Given the description of an element on the screen output the (x, y) to click on. 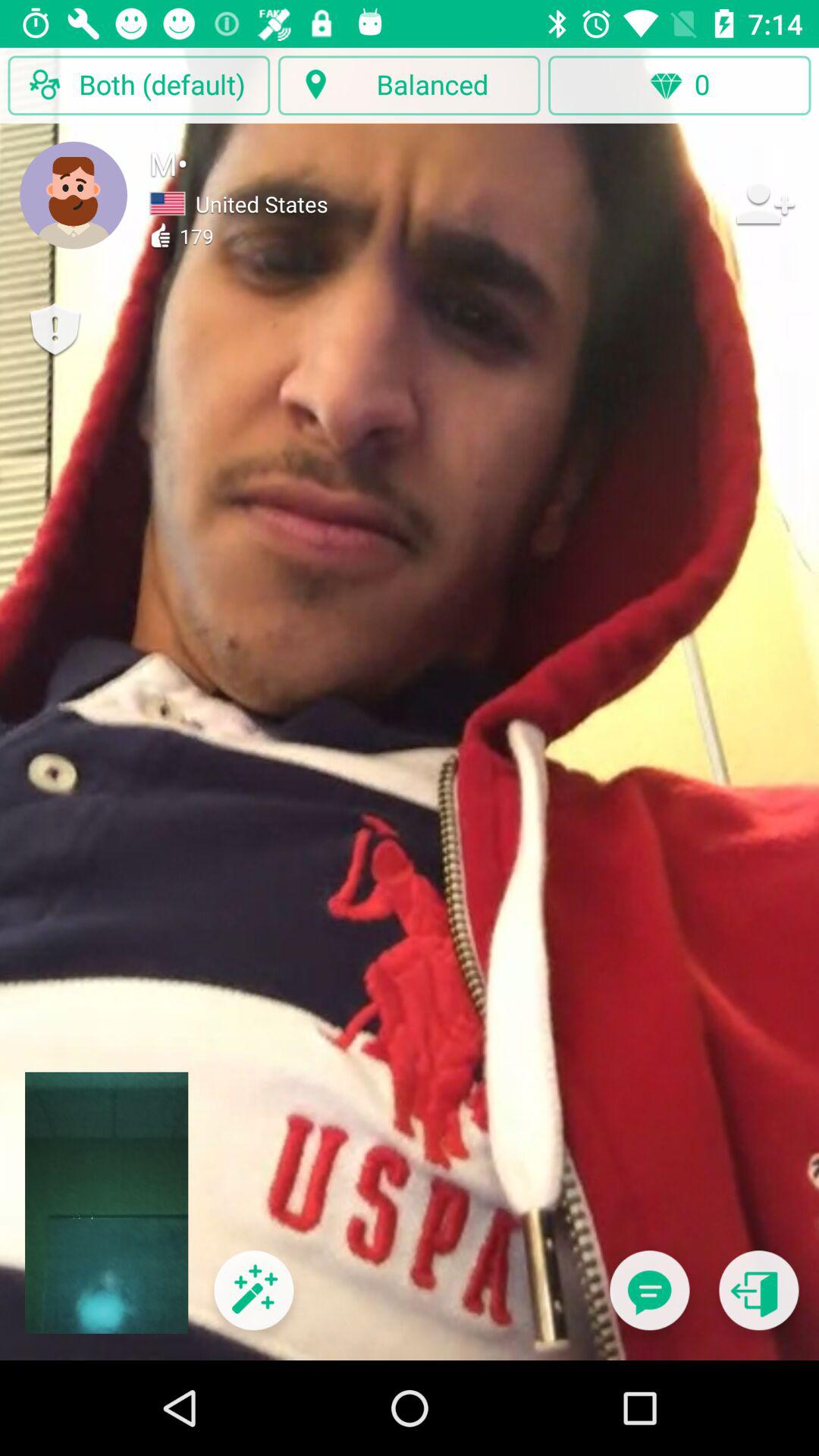
add effects (253, 1300)
